Given the description of an element on the screen output the (x, y) to click on. 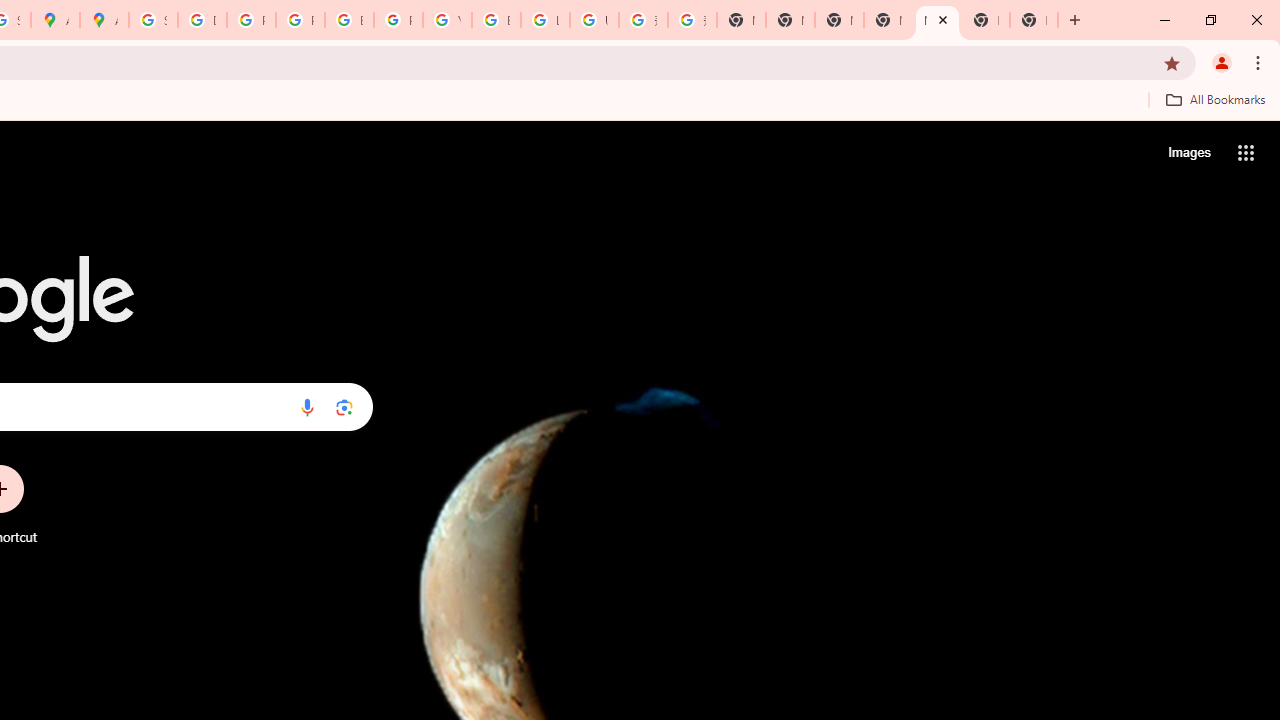
YouTube (447, 20)
New Tab (1033, 20)
Privacy Help Center - Policies Help (300, 20)
Privacy Help Center - Policies Help (251, 20)
